Given the description of an element on the screen output the (x, y) to click on. 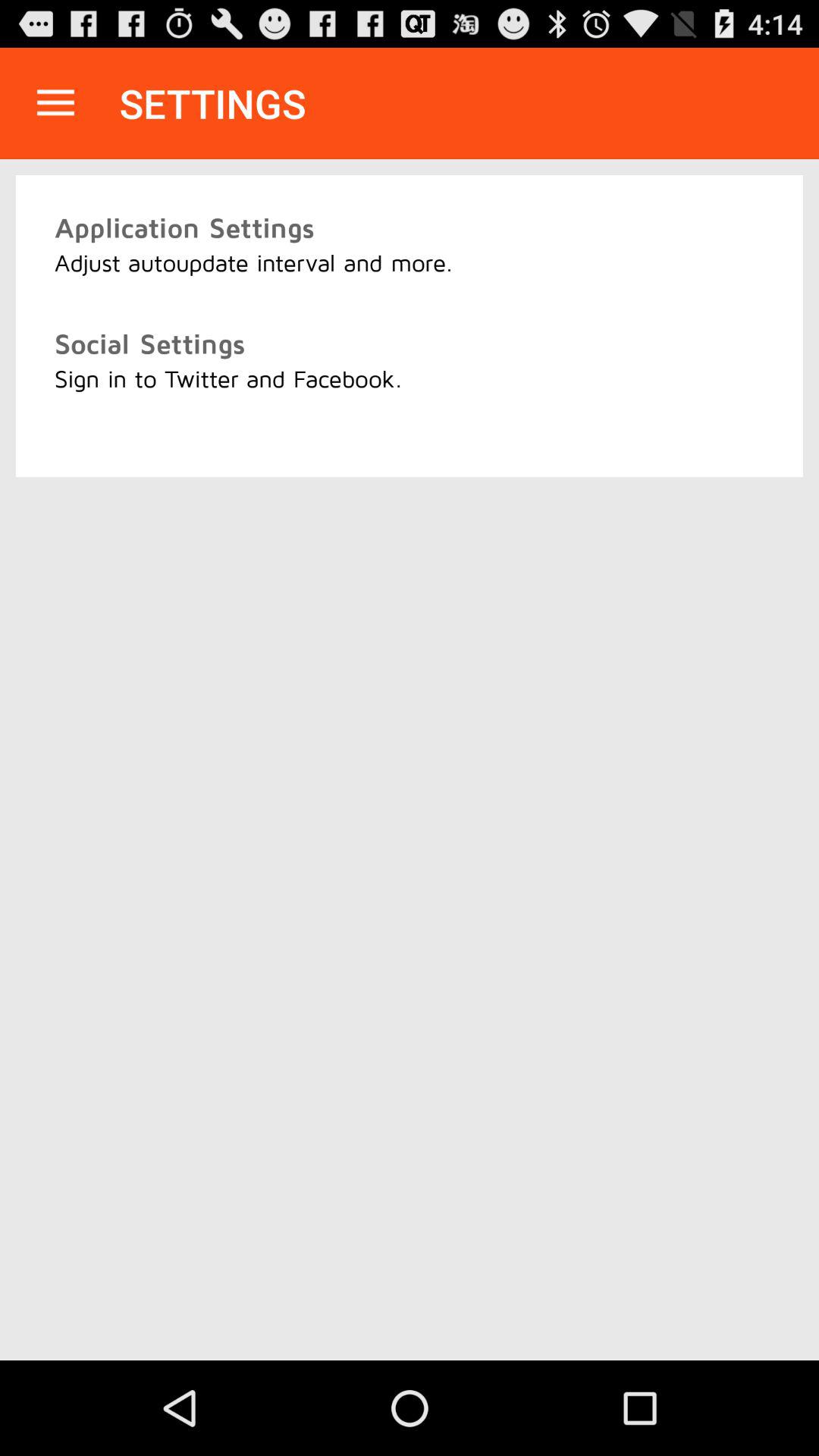
open menu (55, 103)
